Given the description of an element on the screen output the (x, y) to click on. 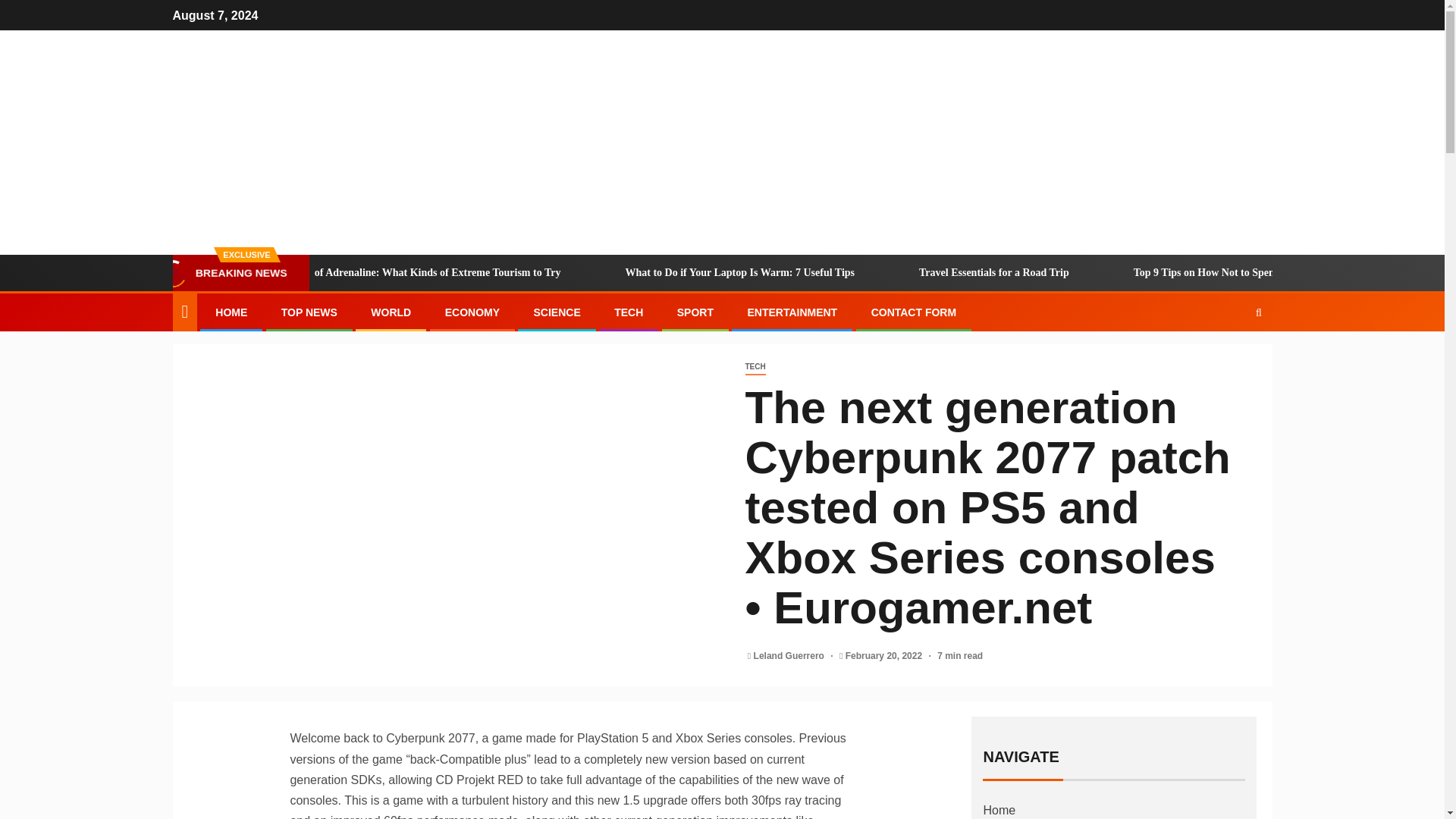
ECONOMY (472, 312)
HOME (231, 312)
Travel Essentials for a Road Trip (1068, 272)
TECH (754, 367)
Leland Guerrero (790, 655)
Search (1258, 312)
WORLD (390, 312)
Search (1229, 358)
TOP NEWS (309, 312)
ENTERTAINMENT (791, 312)
CONTACT FORM (913, 312)
SPORT (695, 312)
What to Do if Your Laptop Is Warm: 7 Useful Tips (815, 272)
TECH (628, 312)
